Given the description of an element on the screen output the (x, y) to click on. 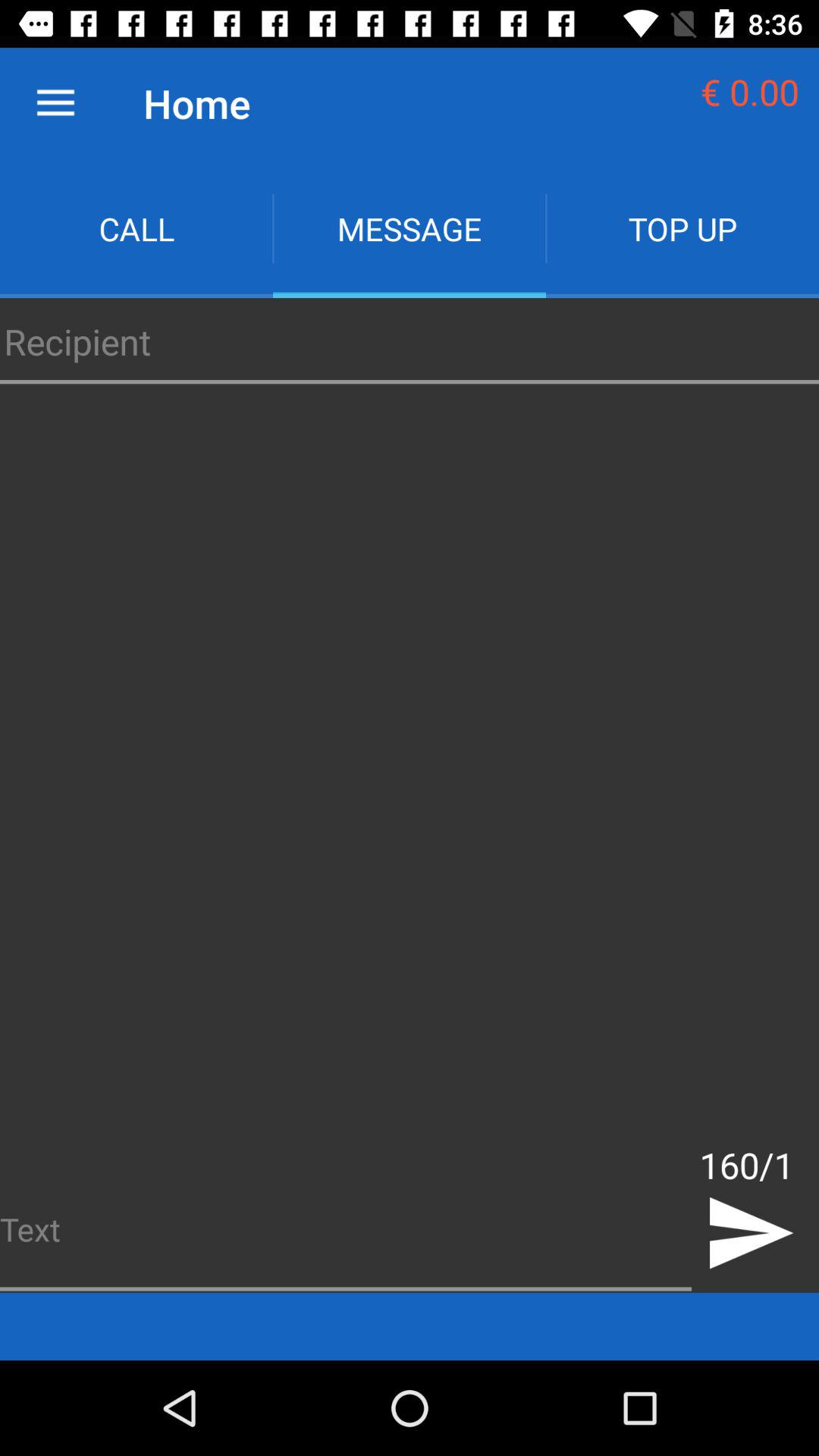
tap app to the left of message (136, 228)
